Given the description of an element on the screen output the (x, y) to click on. 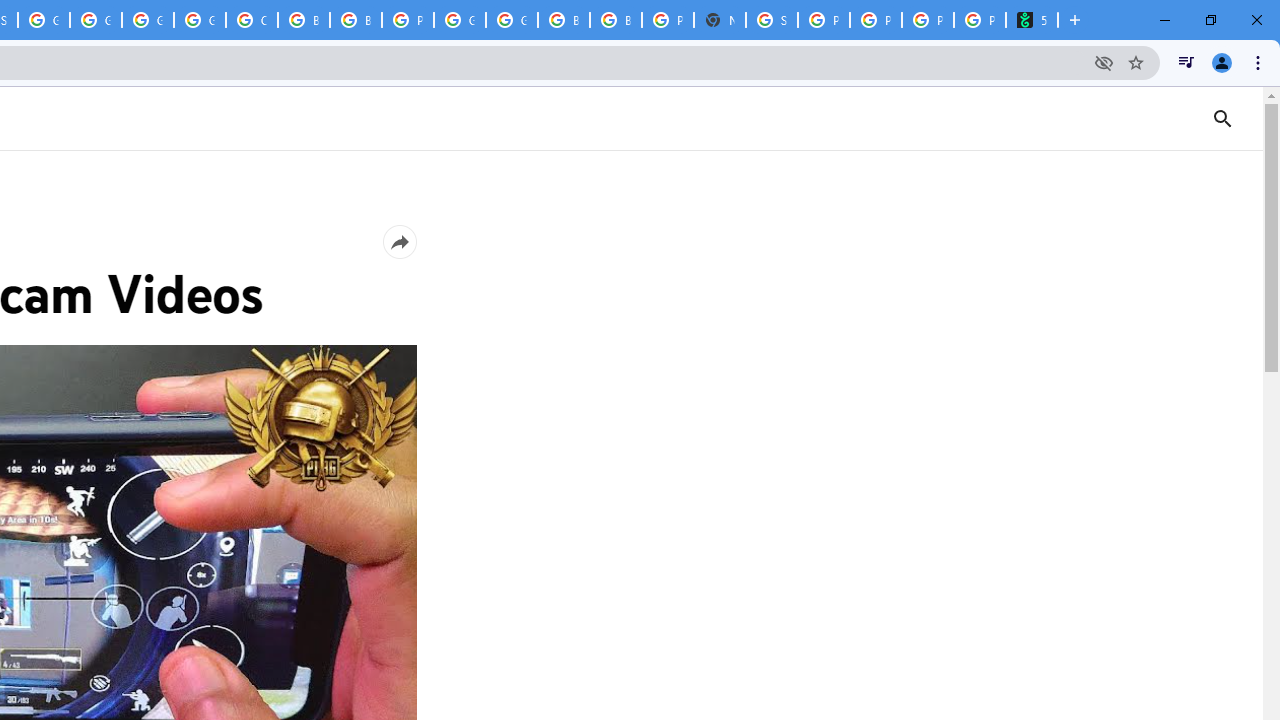
Toggle share toolbar open/closed (399, 241)
Browse Chrome as a guest - Computer - Google Chrome Help (303, 20)
Sign in - Google Accounts (771, 20)
Privacy Checkup (875, 20)
Google Cloud Platform (459, 20)
Browse Chrome as a guest - Computer - Google Chrome Help (355, 20)
